Given the description of an element on the screen output the (x, y) to click on. 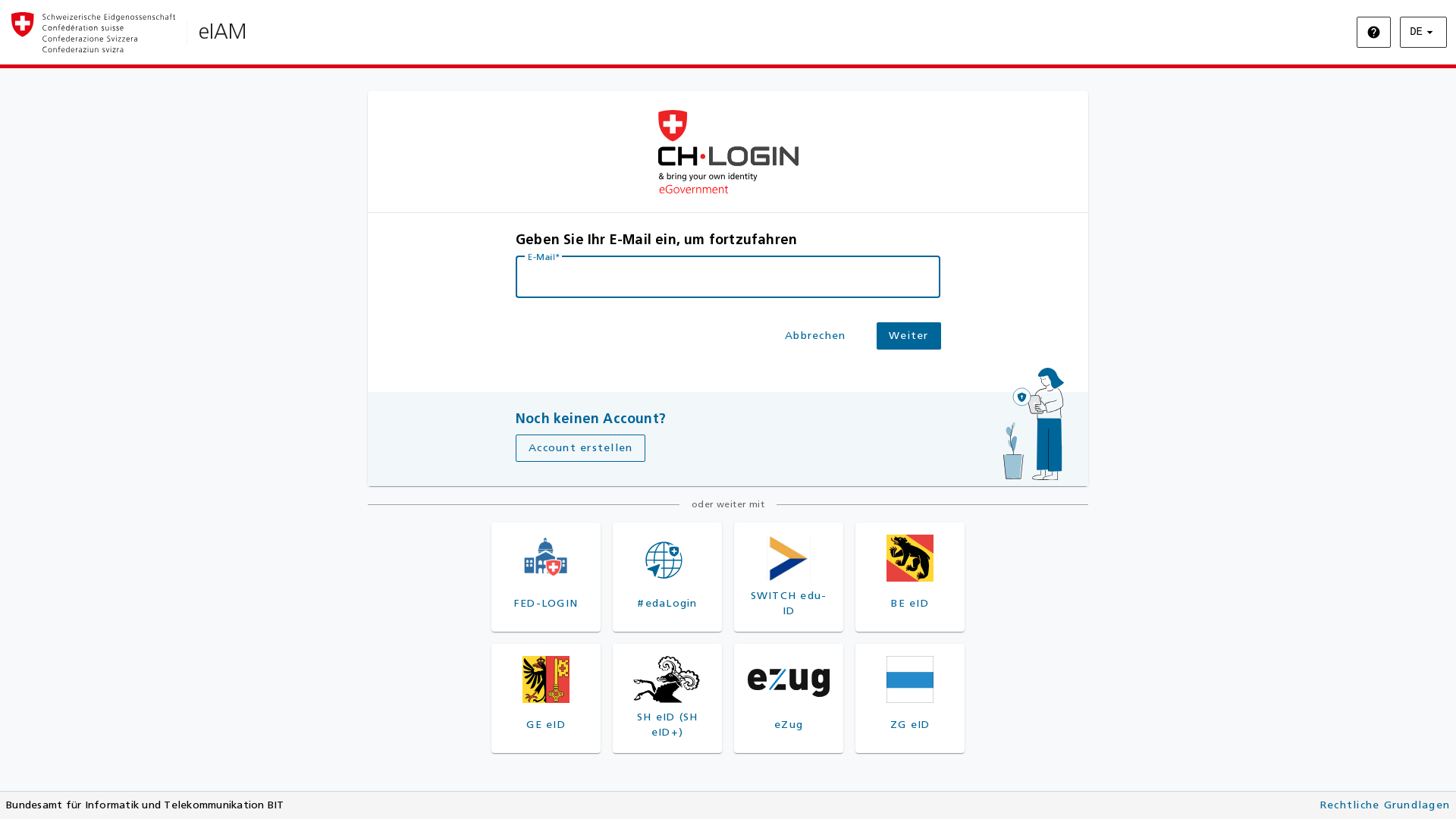
Account erstellen Element type: text (580, 447)
SH eID (SH eID+) Element type: text (666, 698)
help Element type: text (1373, 31)
eIAM Element type: text (222, 31)
eZug Element type: text (788, 698)
SWITCH edu-ID Element type: text (788, 576)
#edaLogin Element type: text (666, 576)
Weiter Element type: text (908, 335)
Abbrechen Element type: text (814, 335)
Rechtliche Grundlagen Element type: text (1384, 804)
BE eID Element type: text (909, 576)
ZG eID Element type: text (909, 698)
DE
arrow_drop_down Element type: text (1422, 31)
FED-LOGIN Element type: text (545, 576)
DE Element type: text (1419, 64)
GE eID Element type: text (545, 698)
